Given the description of an element on the screen output the (x, y) to click on. 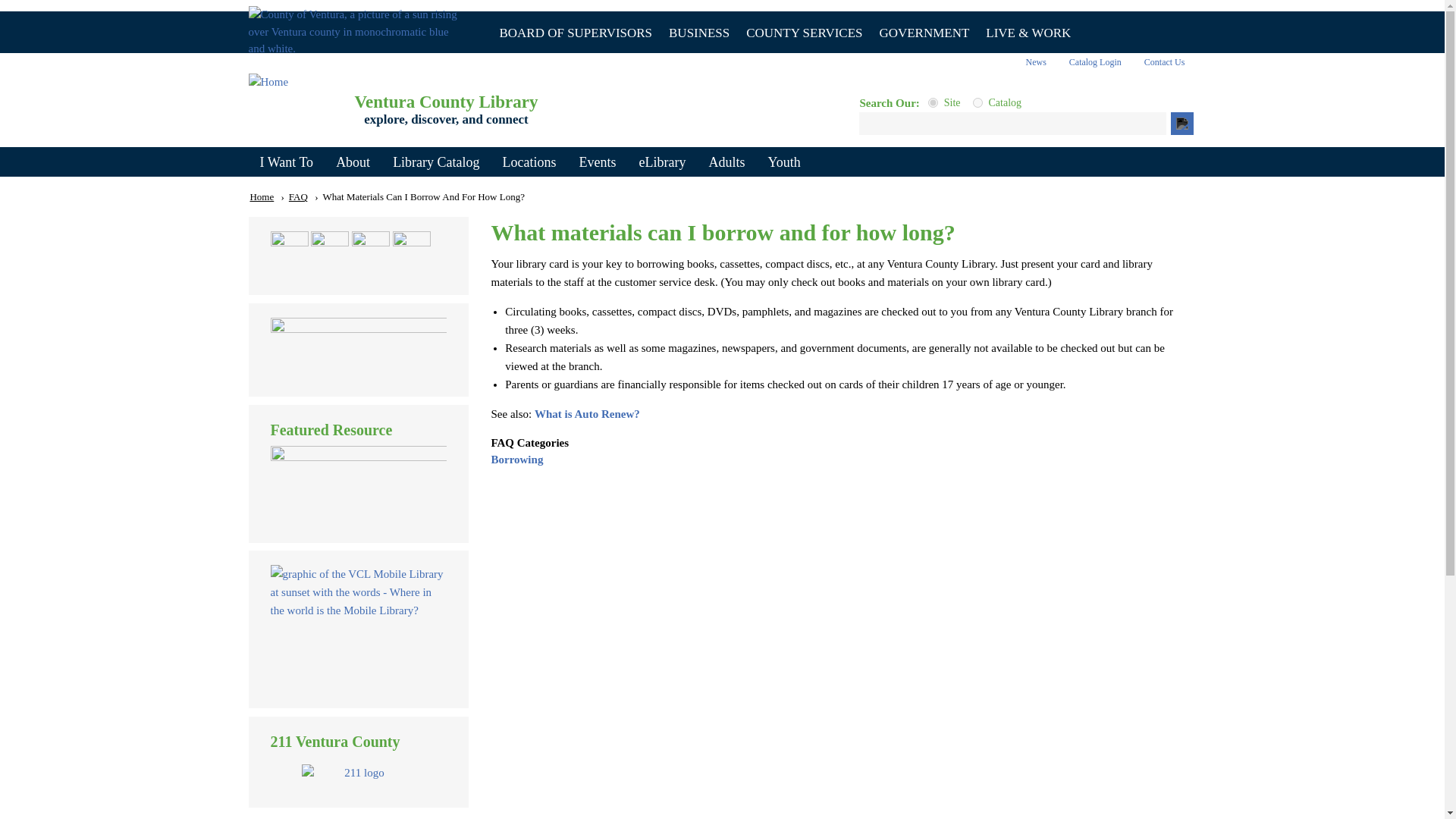
Ventura County Library News (1035, 62)
About (352, 161)
Home (446, 101)
Contact Us (1164, 62)
News (1035, 62)
GOVERNMENT (923, 32)
Ventura County Library (446, 101)
BUSINESS (699, 32)
Catalog Login (1095, 62)
